Given the description of an element on the screen output the (x, y) to click on. 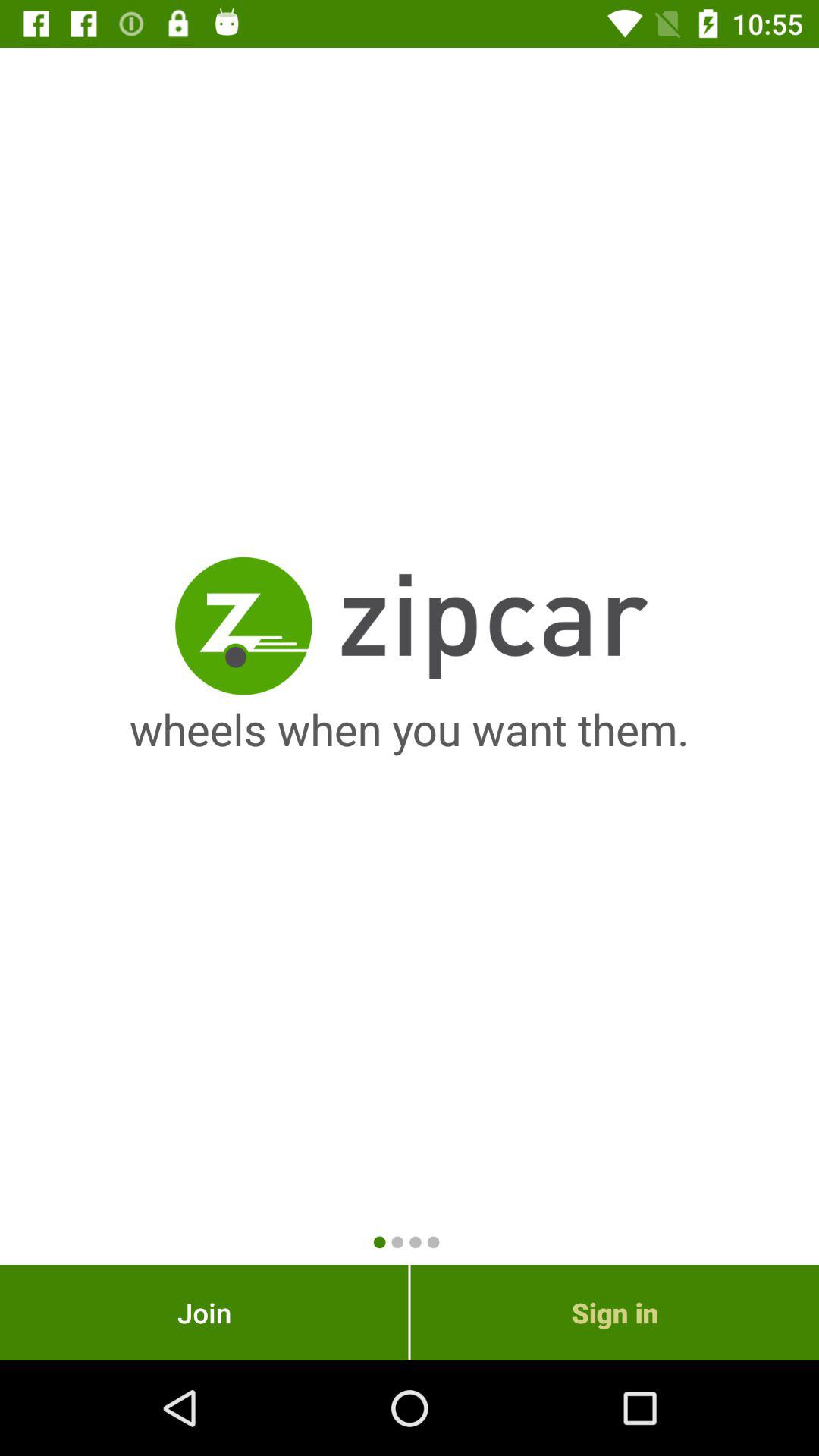
launch the join icon (204, 1312)
